Given the description of an element on the screen output the (x, y) to click on. 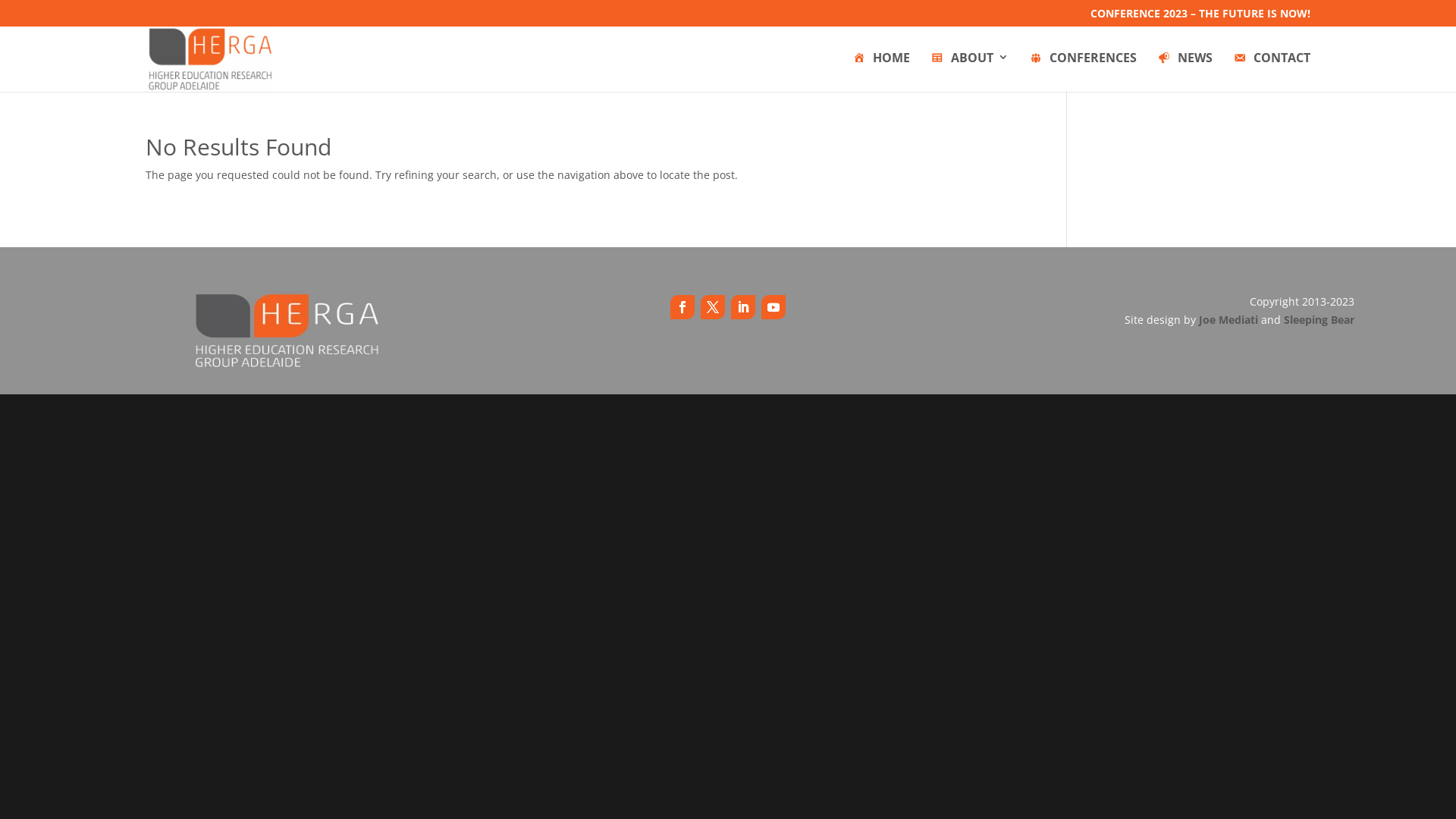
Follow on Facebook Element type: hover (682, 306)
Follow on X Element type: hover (712, 306)
Follow on Youtube Element type: hover (773, 306)
Sleeping Bear Element type: text (1318, 319)
Joe Mediati Element type: text (1228, 319)
CONFERENCES Element type: text (1082, 71)
ABOUT Element type: text (968, 71)
HOME Element type: text (880, 71)
5646_295215163954568_1650703540_n Element type: hover (287, 330)
CONTACT Element type: text (1271, 71)
NEWS Element type: text (1184, 71)
Follow on LinkedIn Element type: hover (743, 306)
